Given the description of an element on the screen output the (x, y) to click on. 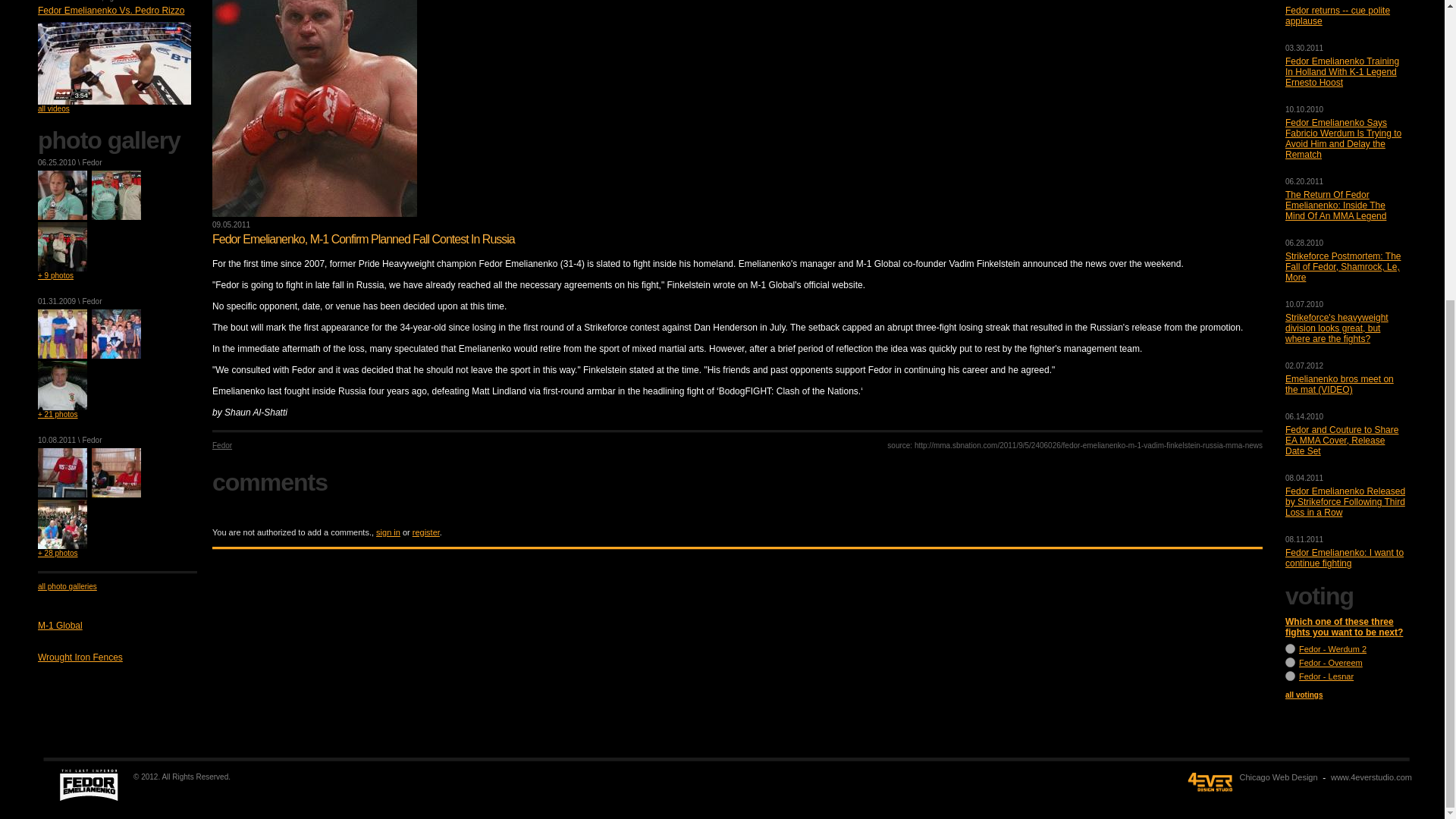
Fedor (91, 439)
Fedor (91, 301)
4 (1290, 648)
Fedor Emelianenko Vs. Pedro Rizzo (110, 9)
all videos (53, 108)
Fedor (91, 0)
5 (1290, 662)
Chicago Web Design (1278, 777)
Chicago Web Design (1371, 777)
Fedor (91, 162)
6 (1290, 675)
